Given the description of an element on the screen output the (x, y) to click on. 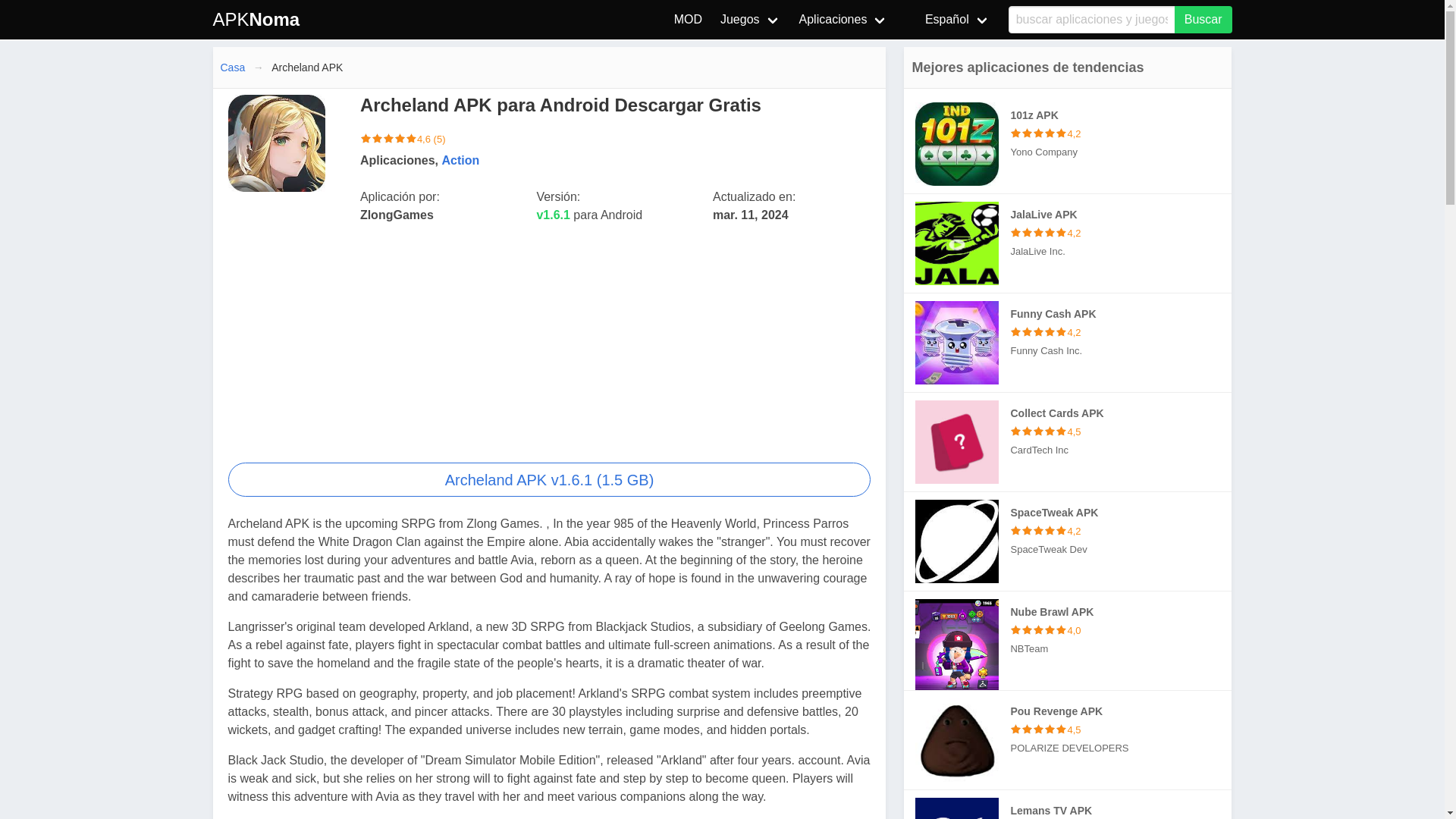
101z APK (956, 143)
101z APK APK (1067, 144)
average rating 4,2 (1038, 133)
101z APK 4,2 (1120, 133)
MOD (688, 19)
average rating 4,6 (387, 138)
Aplicaciones (844, 19)
Juegos (750, 19)
Archeland APK icon (275, 143)
JalaLive APK APK (1067, 243)
APKNoma (255, 19)
Archeland APK (548, 479)
